Given the description of an element on the screen output the (x, y) to click on. 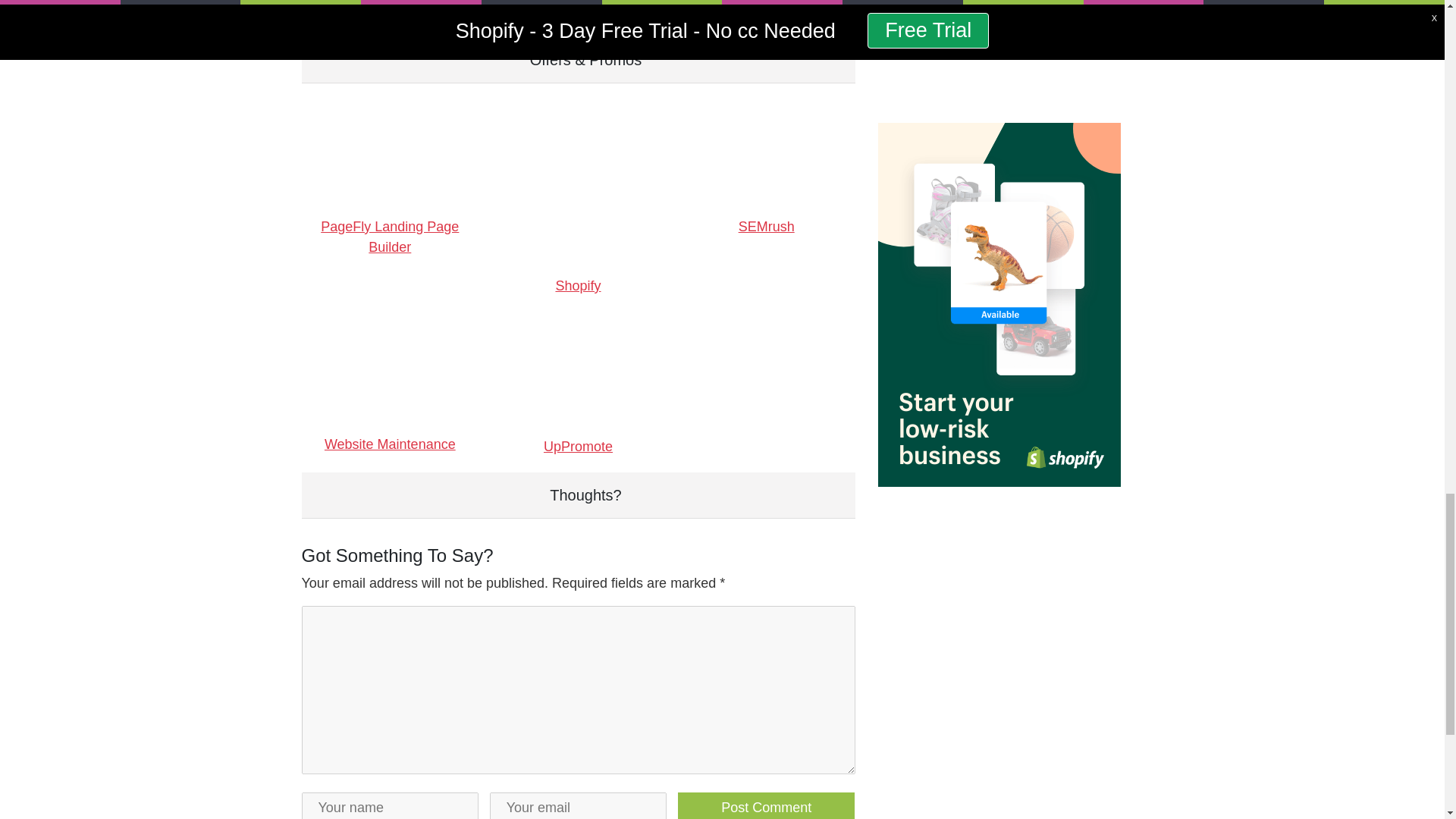
Shopify (577, 197)
PageFly Landing Page Builder (390, 197)
Post Comment (767, 805)
